Given the description of an element on the screen output the (x, y) to click on. 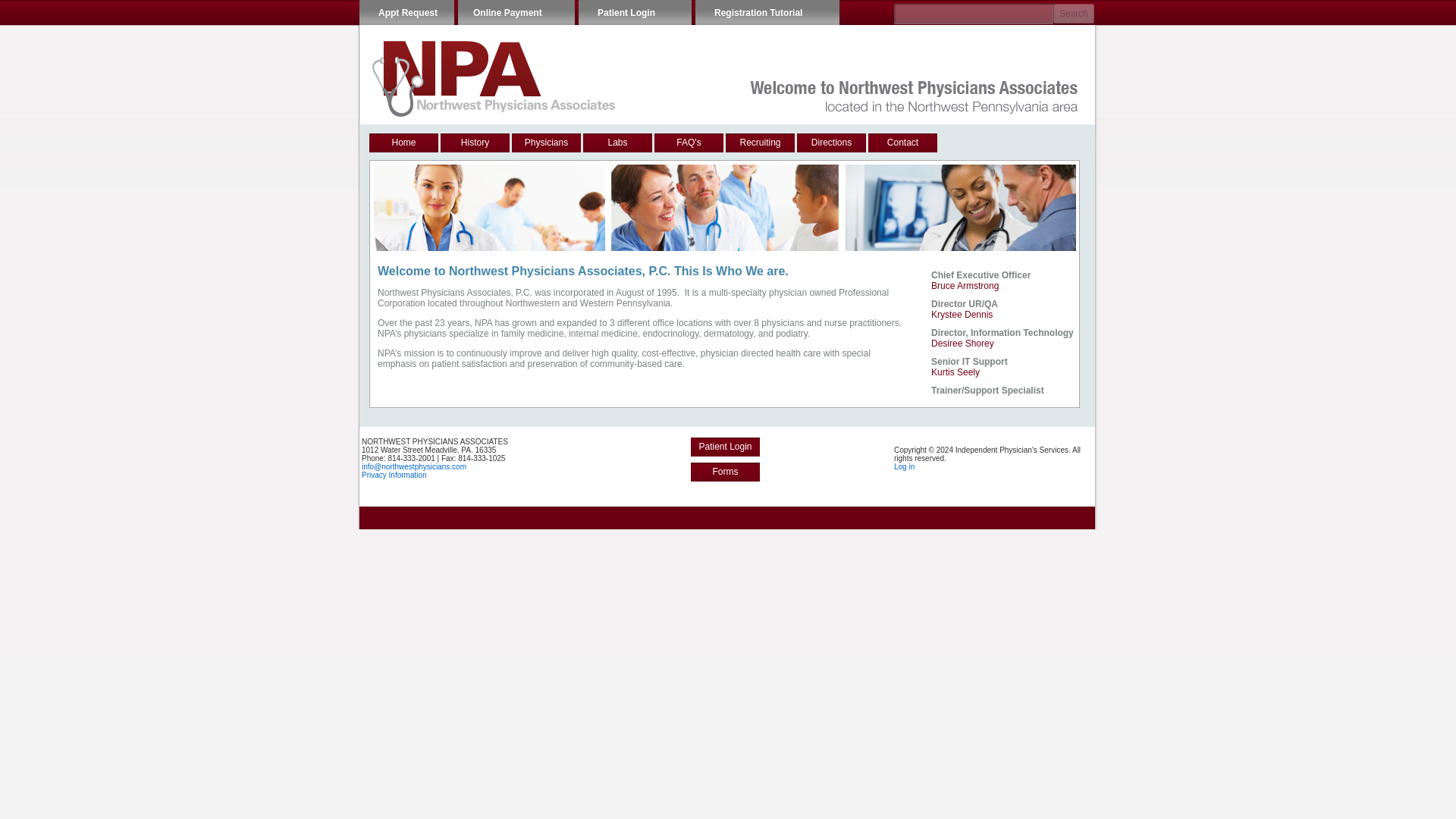
Labs (617, 142)
Online Payment (516, 12)
Directions (831, 142)
Physicians (546, 142)
Bruce Armstrong (964, 285)
Search (1073, 13)
Recruiting (759, 142)
Forms (725, 471)
Contact (902, 142)
Appt Request (406, 12)
Patient Login (725, 445)
Privacy Information (393, 474)
Kurtis Seely (955, 371)
Patient Login (634, 12)
Registration Tutorial (767, 12)
